Given the description of an element on the screen output the (x, y) to click on. 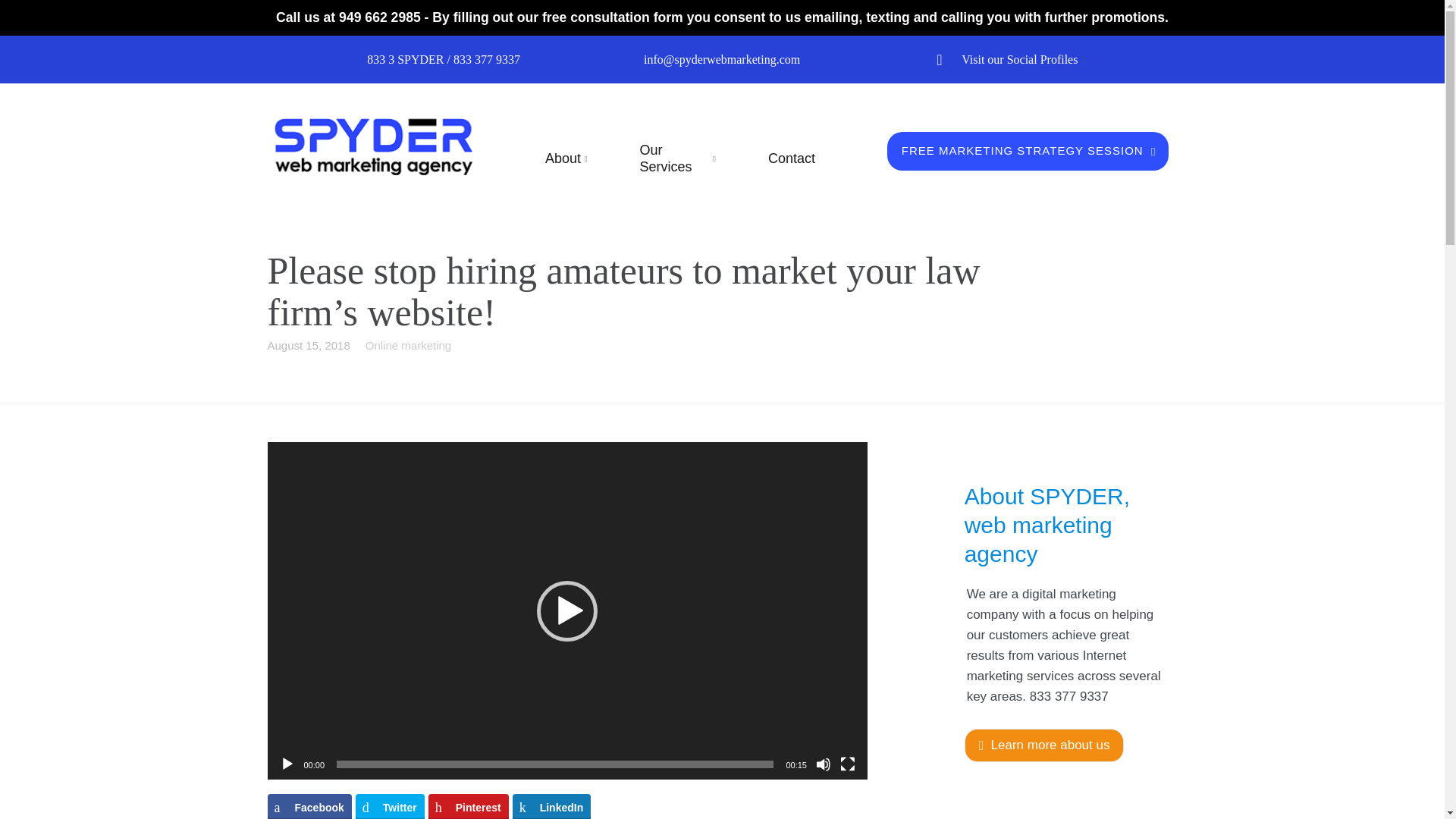
Our Services (675, 158)
Play (286, 764)
Mute (823, 764)
About (562, 158)
Fullscreen (848, 764)
Visit our Social Profiles (1018, 59)
